Given the description of an element on the screen output the (x, y) to click on. 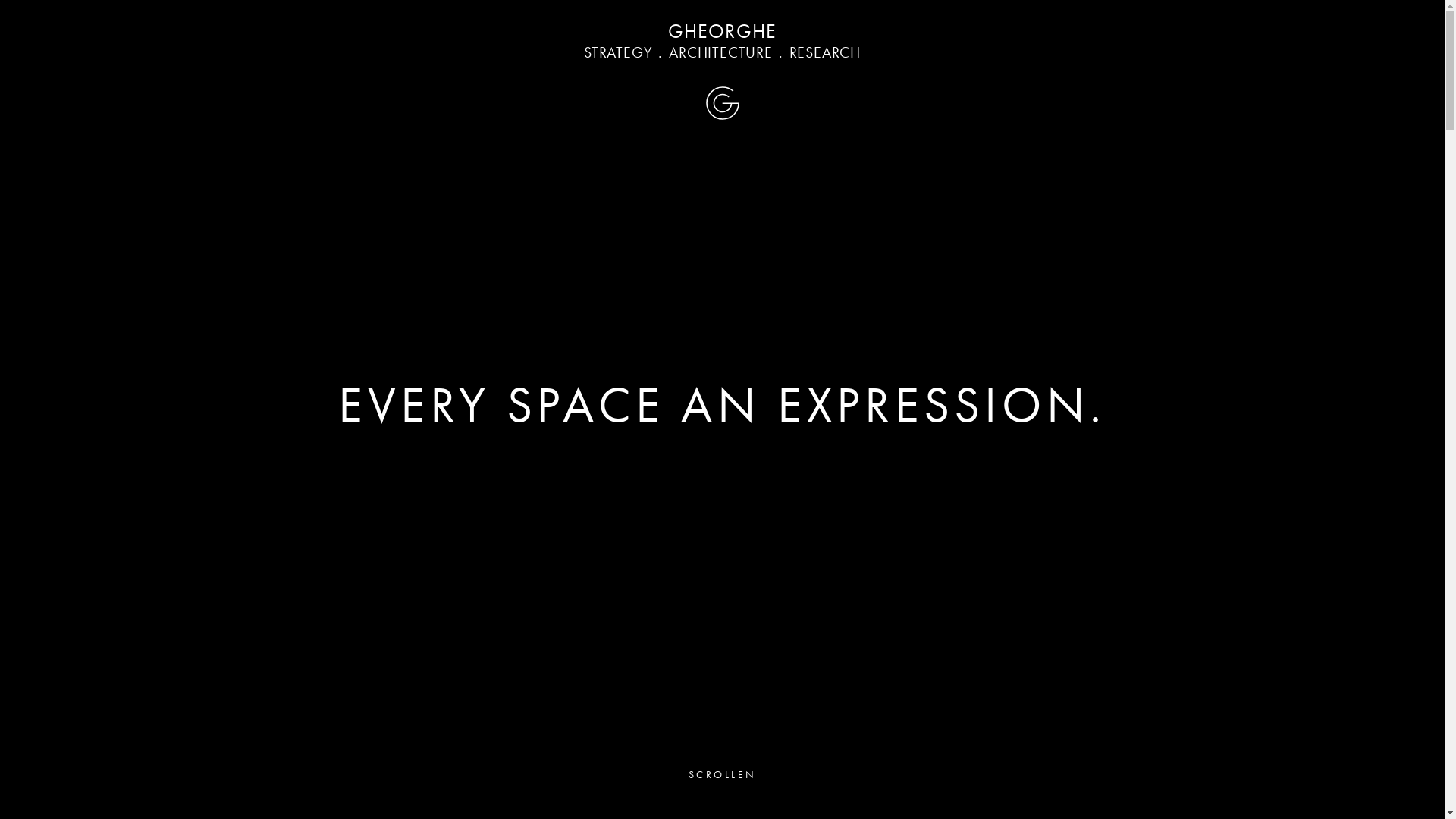
SCROLLEN Element type: text (722, 773)
STRATEGY Element type: text (617, 52)
RESEARCH Element type: text (824, 52)
GHEORGHE Element type: text (721, 30)
ARCHITECTURE Element type: text (720, 52)
